Given the description of an element on the screen output the (x, y) to click on. 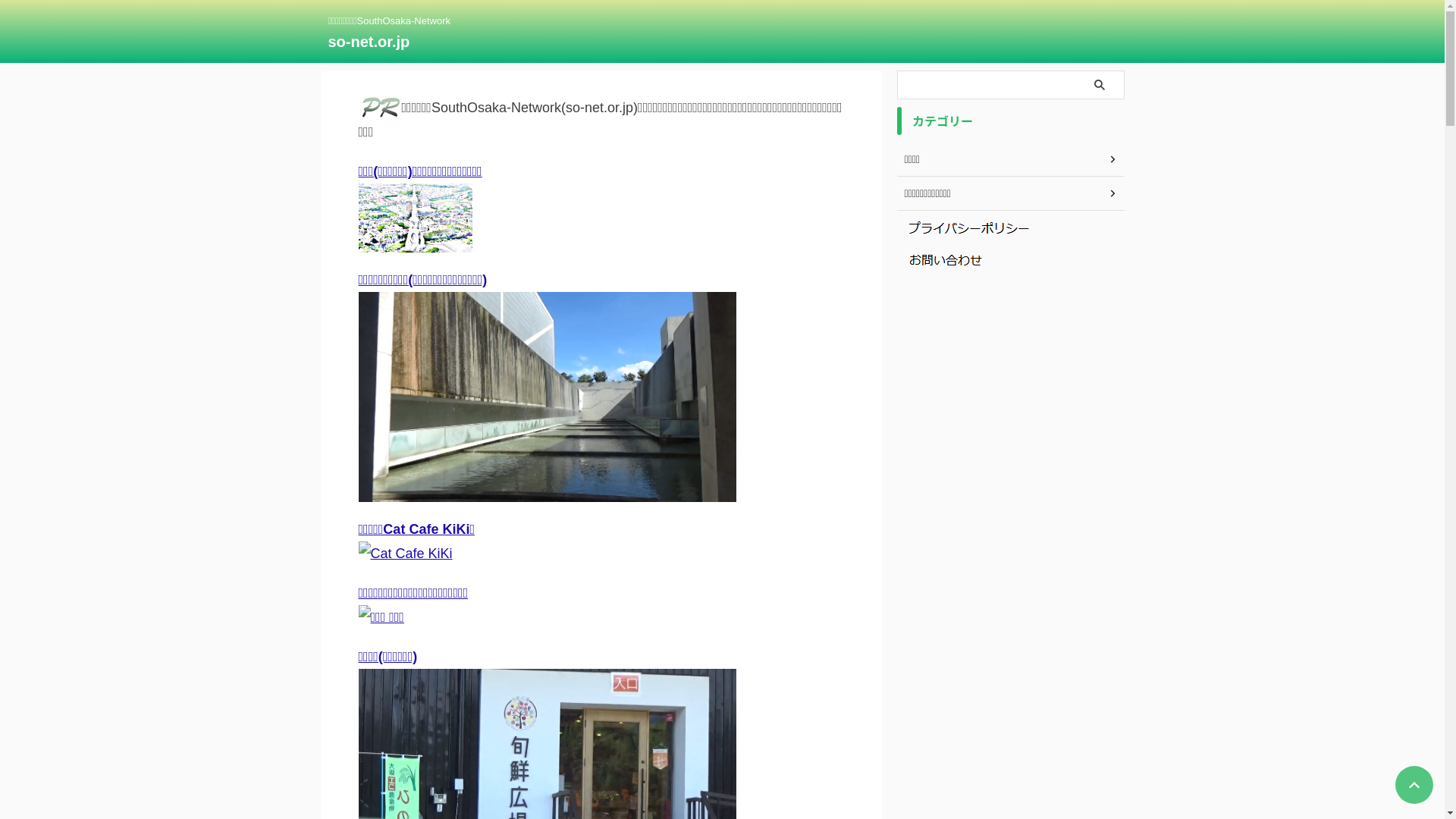
so-net.or.jp Element type: text (368, 41)
Cat Cafe KiKi Element type: hover (404, 553)
